Given the description of an element on the screen output the (x, y) to click on. 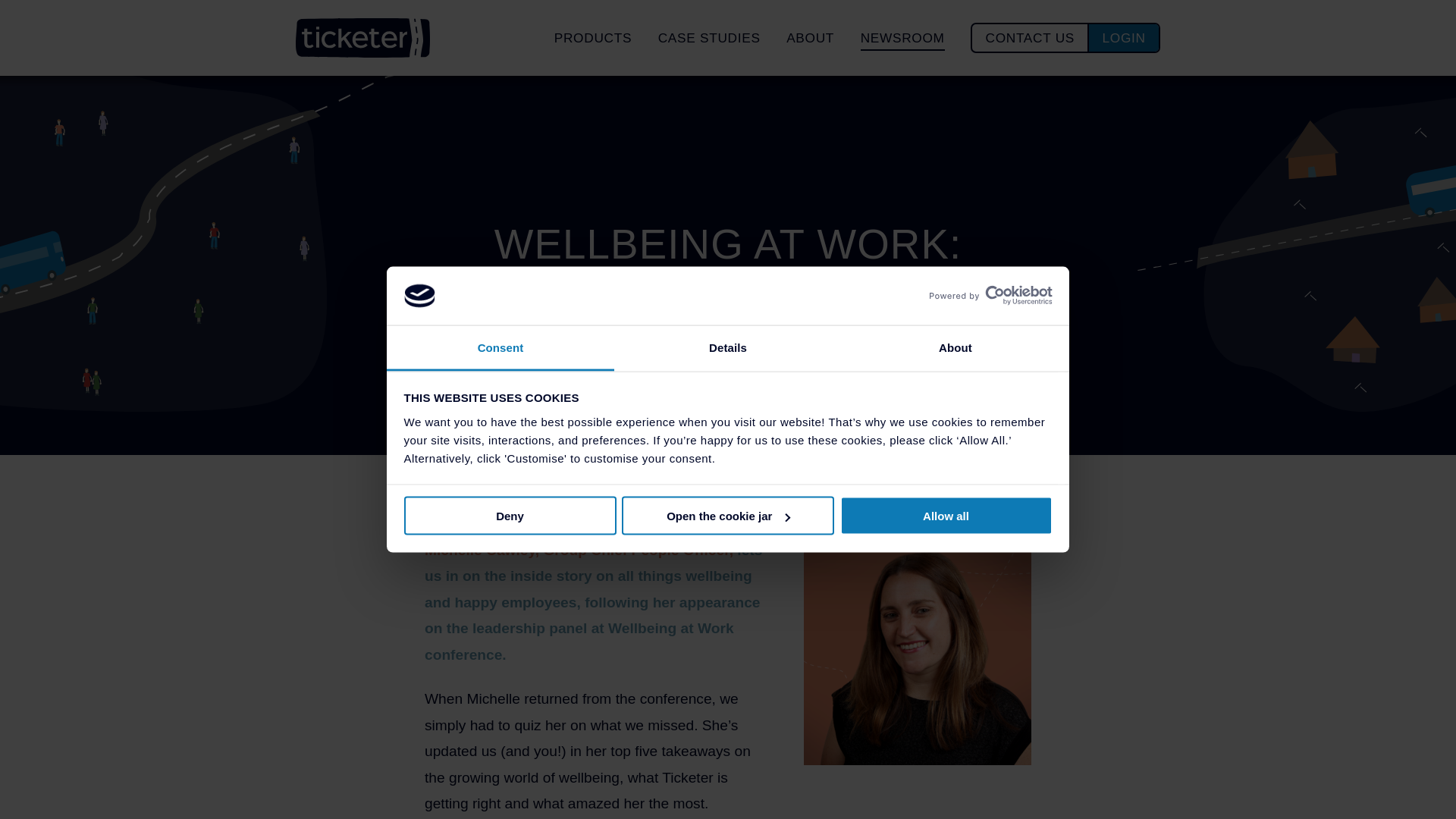
About (954, 348)
Details (727, 348)
Consent (500, 348)
